Given the description of an element on the screen output the (x, y) to click on. 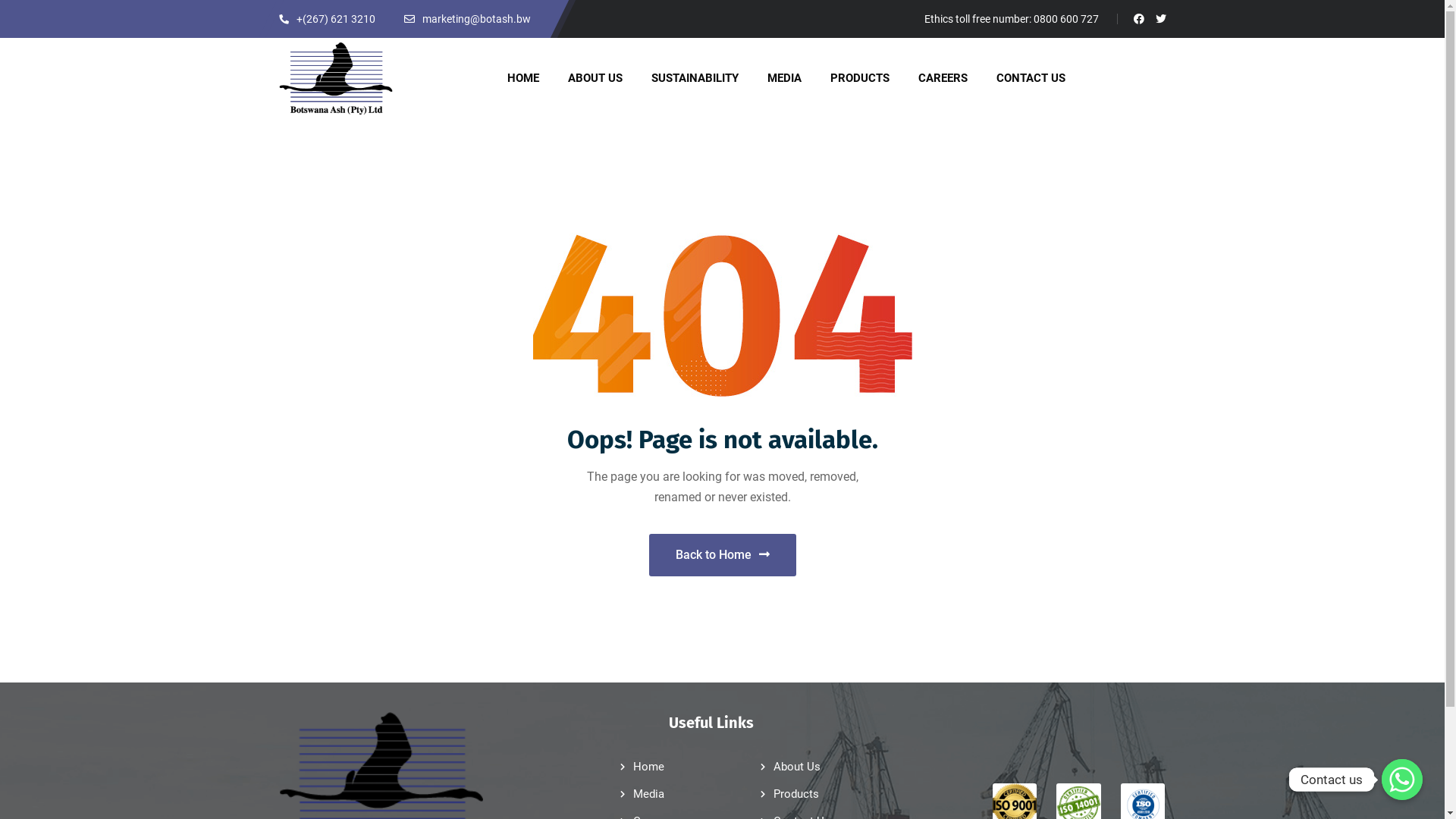
ABOUT US Element type: text (594, 78)
Ethics toll free number: 0800 600 727 Element type: text (1010, 18)
MEDIA Element type: text (784, 78)
Media Element type: text (648, 793)
CONTACT US Element type: text (1030, 78)
Contact us Element type: text (1401, 779)
Back to Home Element type: text (722, 554)
Home Element type: text (648, 766)
Botash Element type: hover (335, 78)
CAREERS Element type: text (942, 78)
Products Element type: text (796, 793)
About Us Element type: text (796, 766)
SUSTAINABILITY Element type: text (694, 78)
+(267) 621 3210 Element type: text (327, 18)
marketing@botash.bw Element type: text (466, 18)
HOME Element type: text (523, 78)
PRODUCTS Element type: text (859, 78)
